Given the description of an element on the screen output the (x, y) to click on. 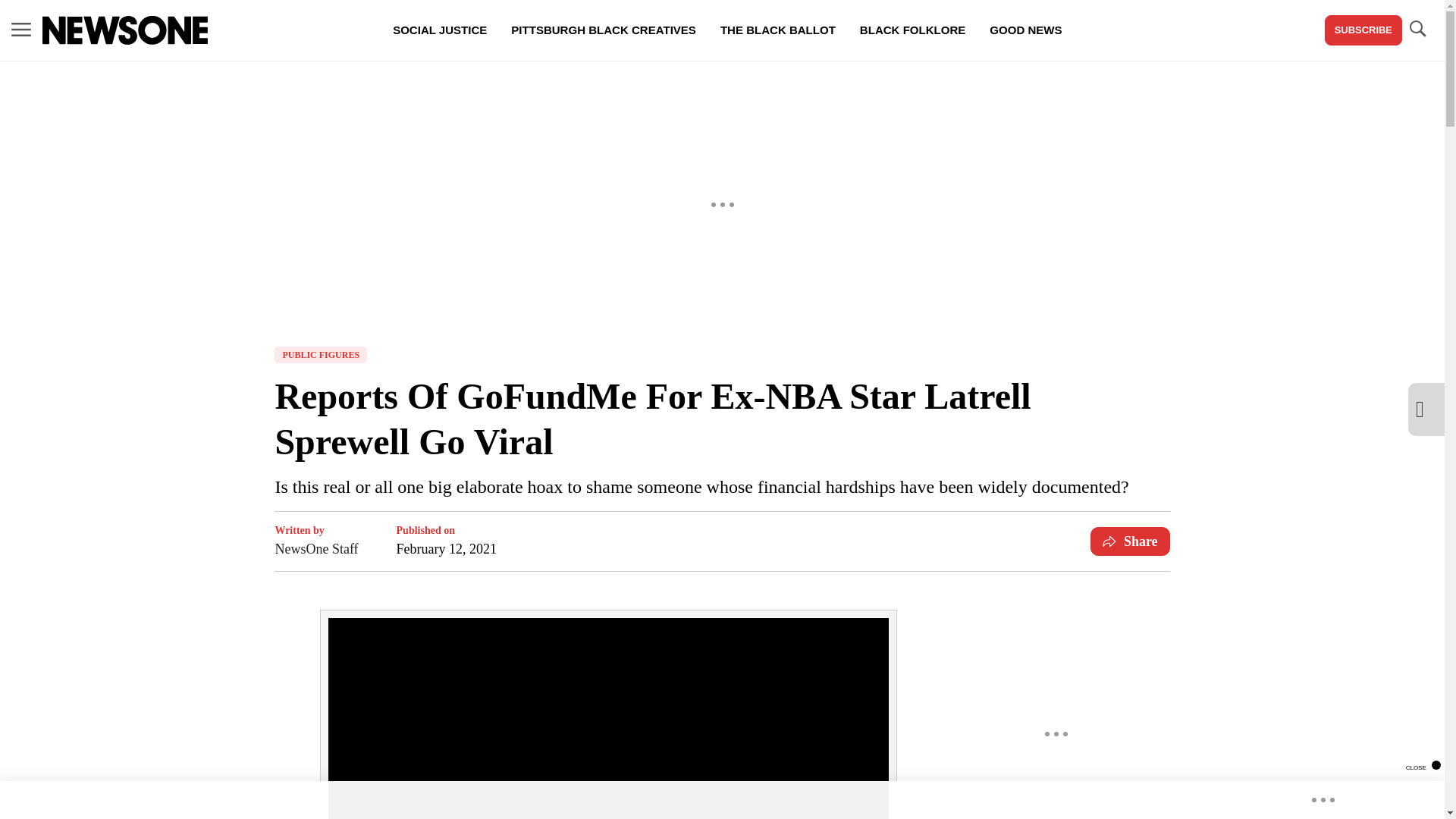
GOOD NEWS (1025, 30)
NewsOne Staff (316, 548)
TOGGLE SEARCH (1417, 28)
Share (1130, 541)
SOCIAL JUSTICE (439, 30)
MENU (20, 29)
THE BLACK BALLOT (777, 30)
BLACK FOLKLORE (911, 30)
SUBSCRIBE (1363, 30)
PITTSBURGH BLACK CREATIVES (603, 30)
PUBLIC FIGURES (320, 354)
MENU (20, 30)
TOGGLE SEARCH (1417, 30)
